Given the description of an element on the screen output the (x, y) to click on. 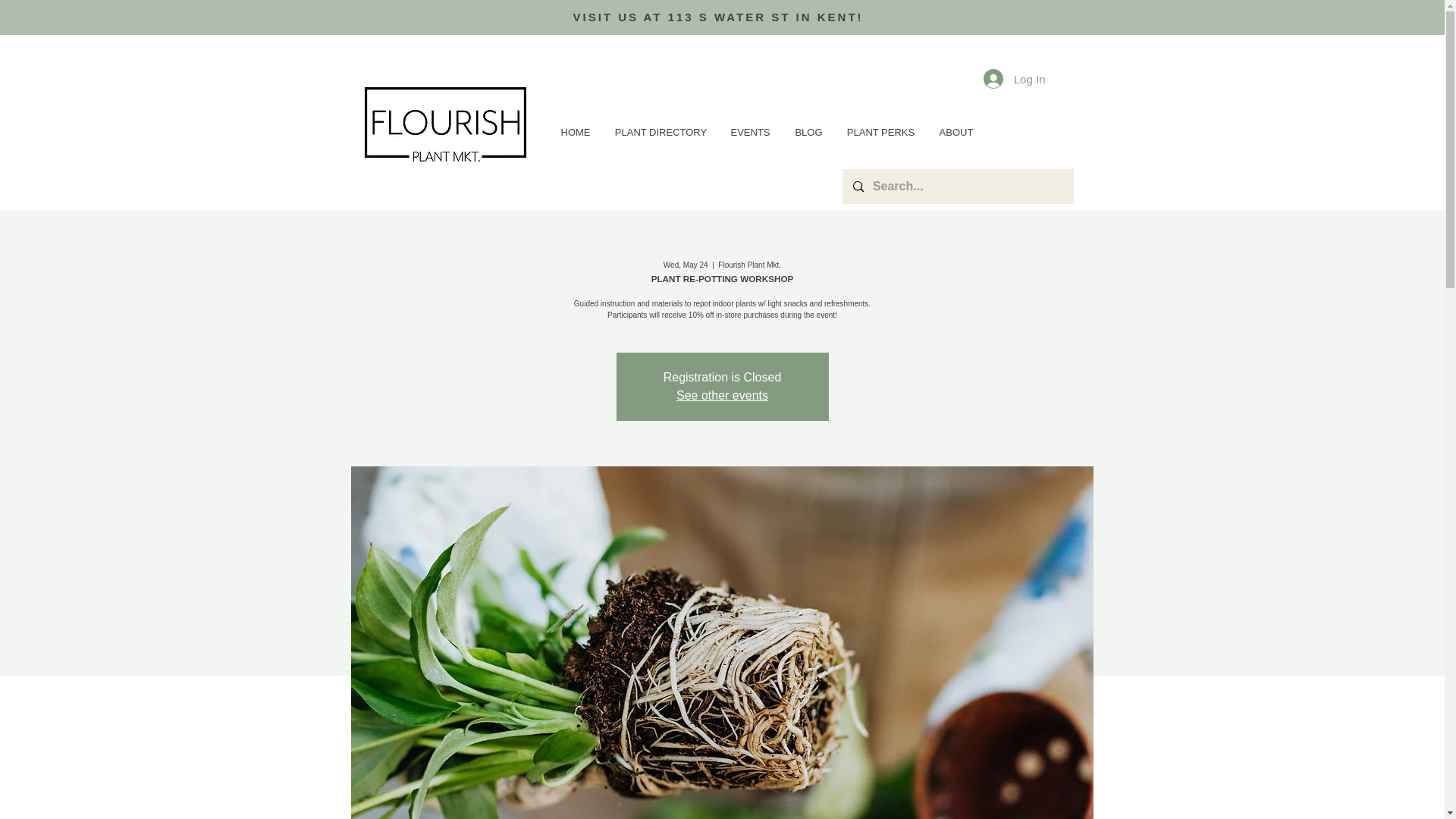
ABOUT (956, 132)
BLOG (809, 132)
PLANT PERKS (880, 132)
EVENTS (751, 132)
PLANT DIRECTORY (661, 132)
HOME (574, 132)
Log In (1014, 78)
See other events (722, 395)
